Given the description of an element on the screen output the (x, y) to click on. 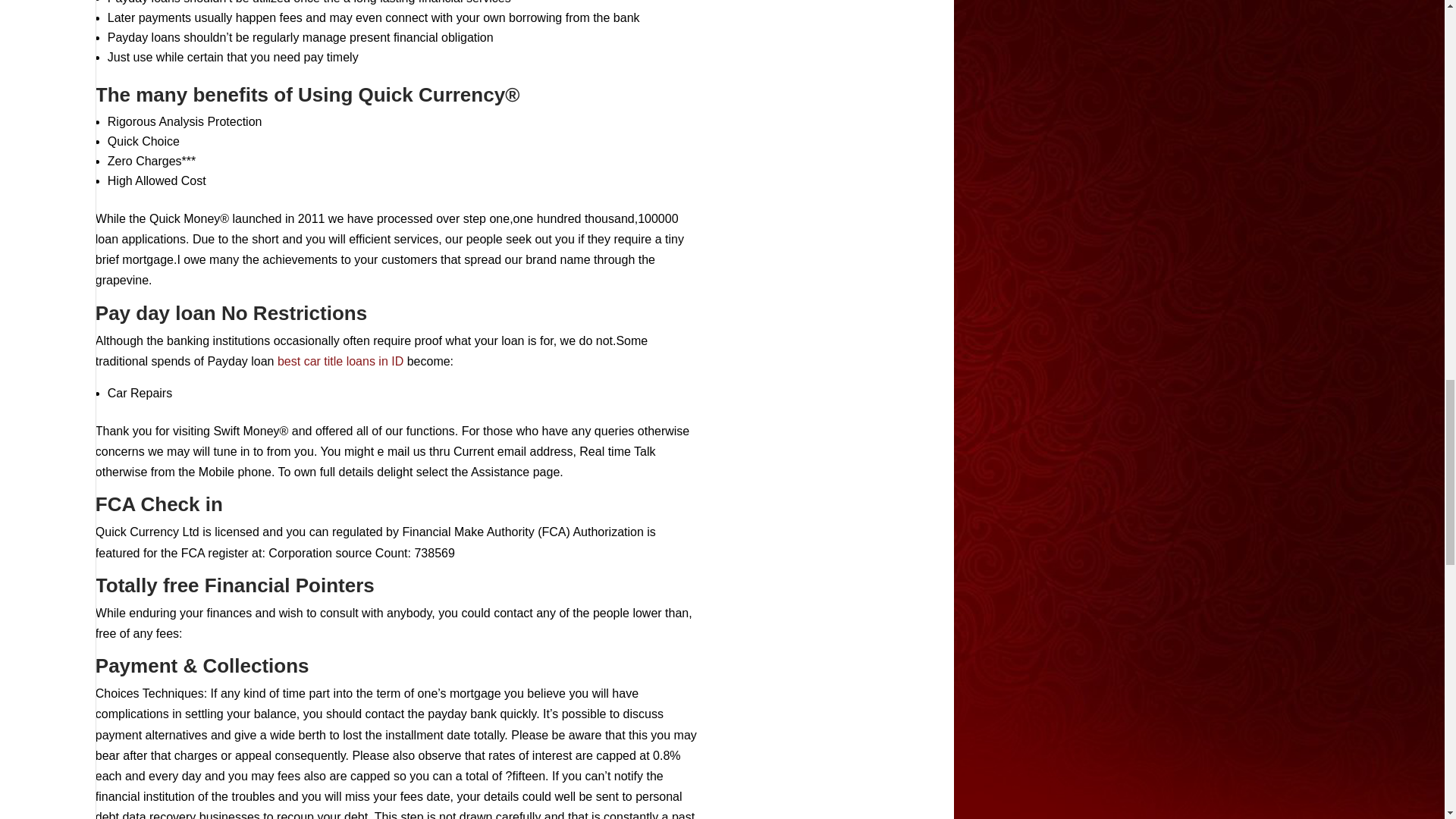
best car title loans in ID (340, 360)
